Given the description of an element on the screen output the (x, y) to click on. 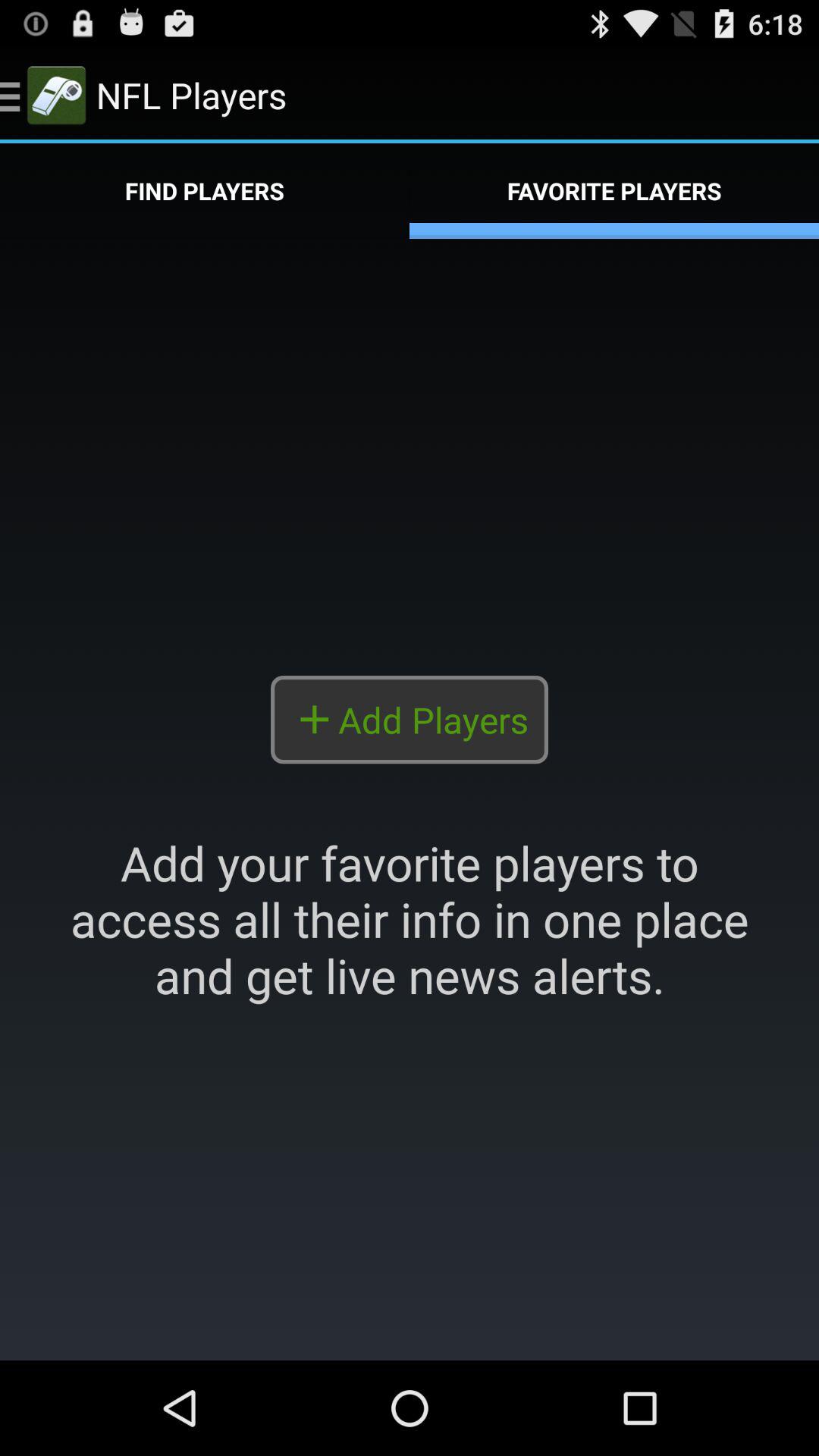
the highlighted portion included to add player (409, 799)
